Given the description of an element on the screen output the (x, y) to click on. 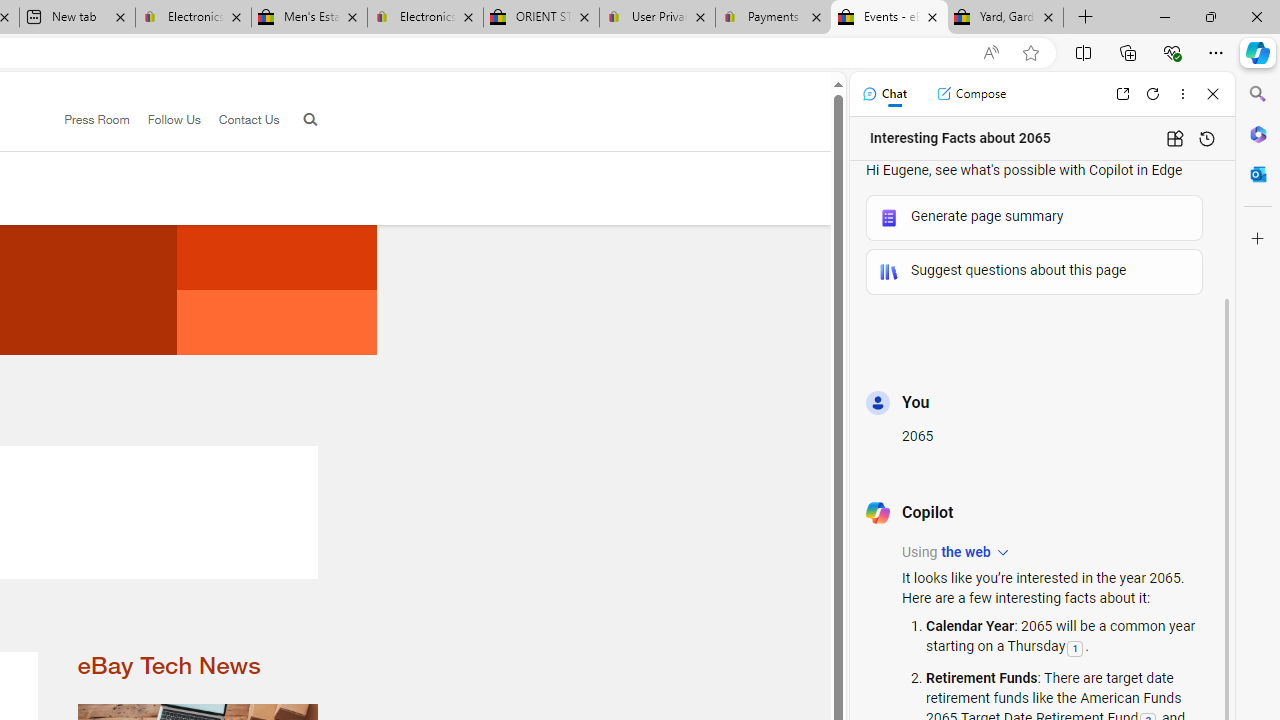
Press Room (97, 119)
Follow Us (173, 119)
Chat (884, 93)
Contact Us (239, 120)
